Given the description of an element on the screen output the (x, y) to click on. 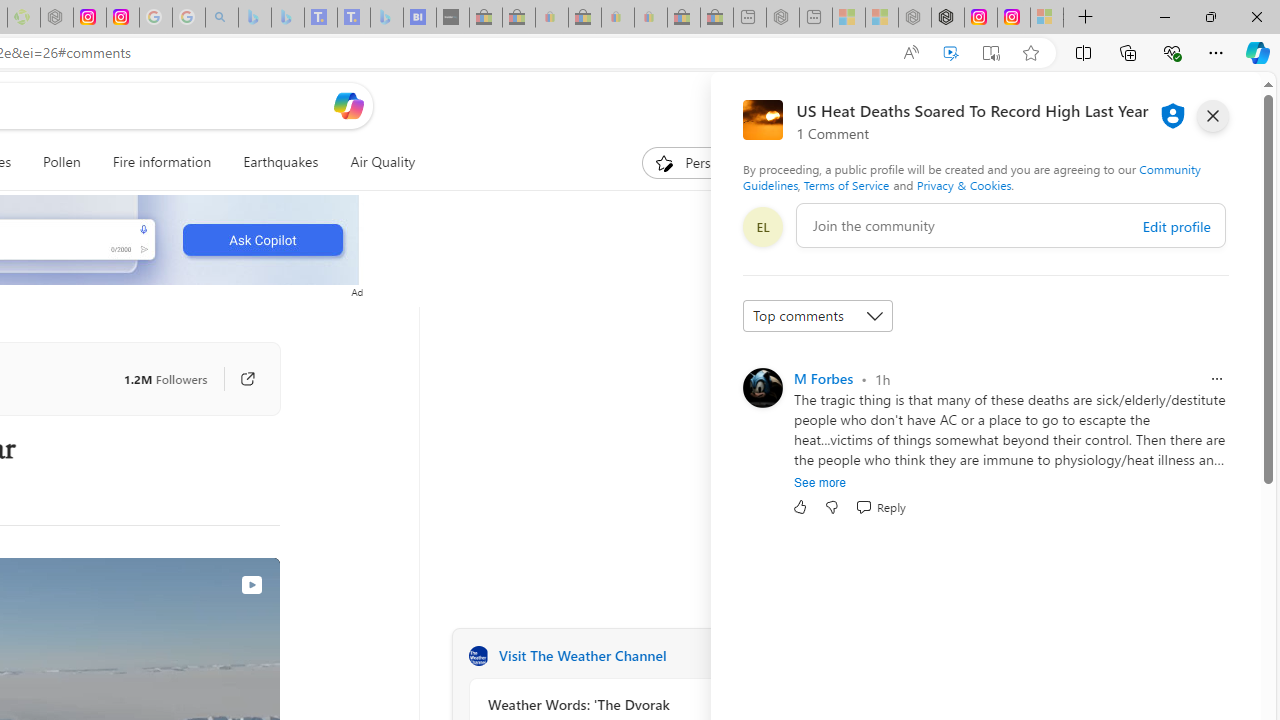
Air Quality (375, 162)
Privacy & Cookies (964, 184)
Payments Terms of Use | eBay.com - Sleeping (650, 17)
Press Room - eBay Inc. - Sleeping (684, 17)
Enhance video (950, 53)
Report comment (1216, 378)
Shangri-La Bangkok, Hotel reviews and Room rates - Sleeping (353, 17)
M Forbes (823, 378)
